Given the description of an element on the screen output the (x, y) to click on. 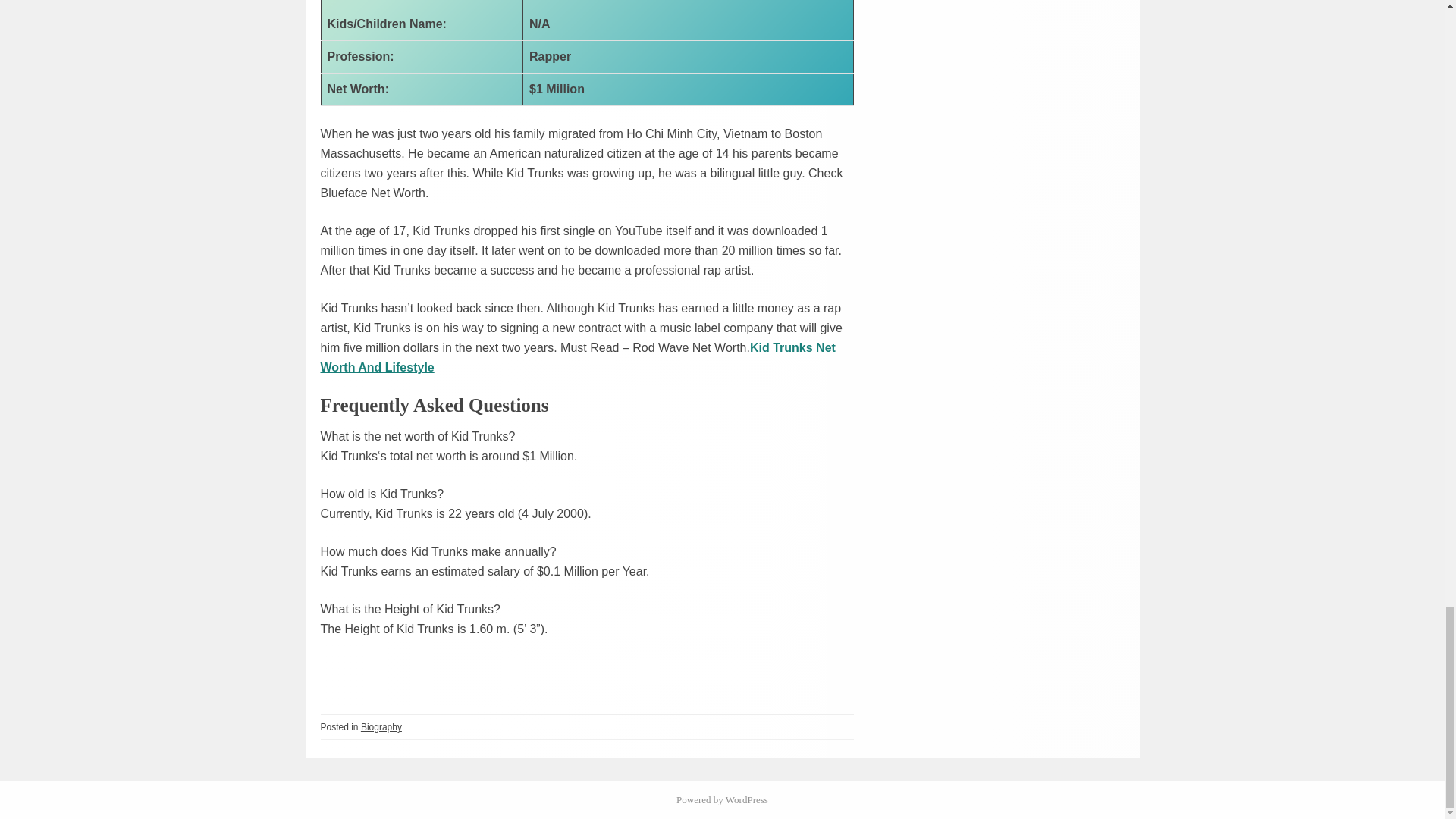
Kid Trunks Net Worth And Lifestyle (577, 357)
Biography (381, 726)
